Given the description of an element on the screen output the (x, y) to click on. 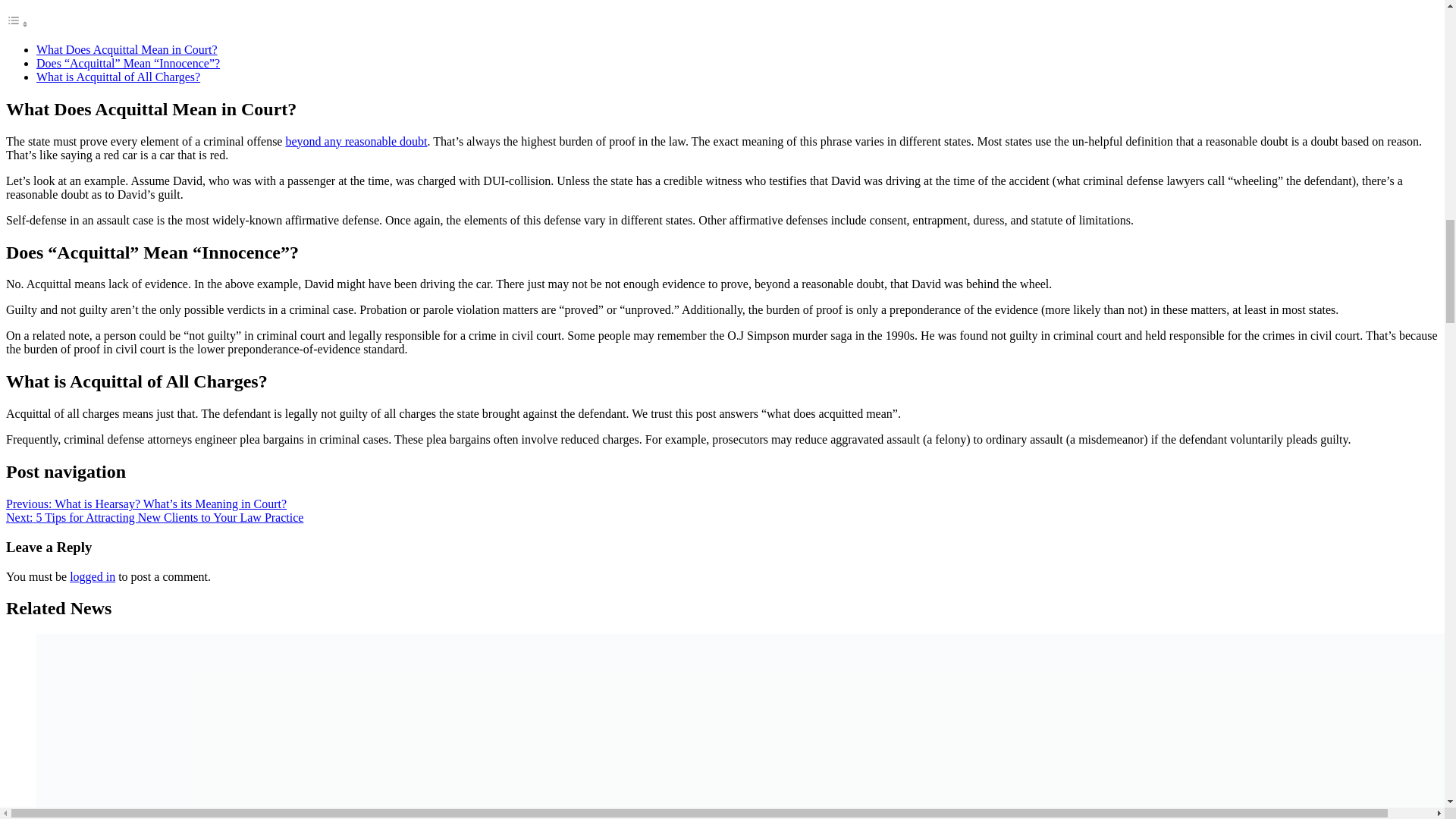
What is Acquittal of All Charges? (118, 76)
logged in (92, 576)
What is Acquittal of All Charges? (118, 76)
beyond any reasonable doubt (355, 141)
What Does Acquittal Mean in Court? (126, 49)
Next: 5 Tips for Attracting New Clients to Your Law Practice (153, 517)
What Does Acquittal Mean in Court? (126, 49)
